Given the description of an element on the screen output the (x, y) to click on. 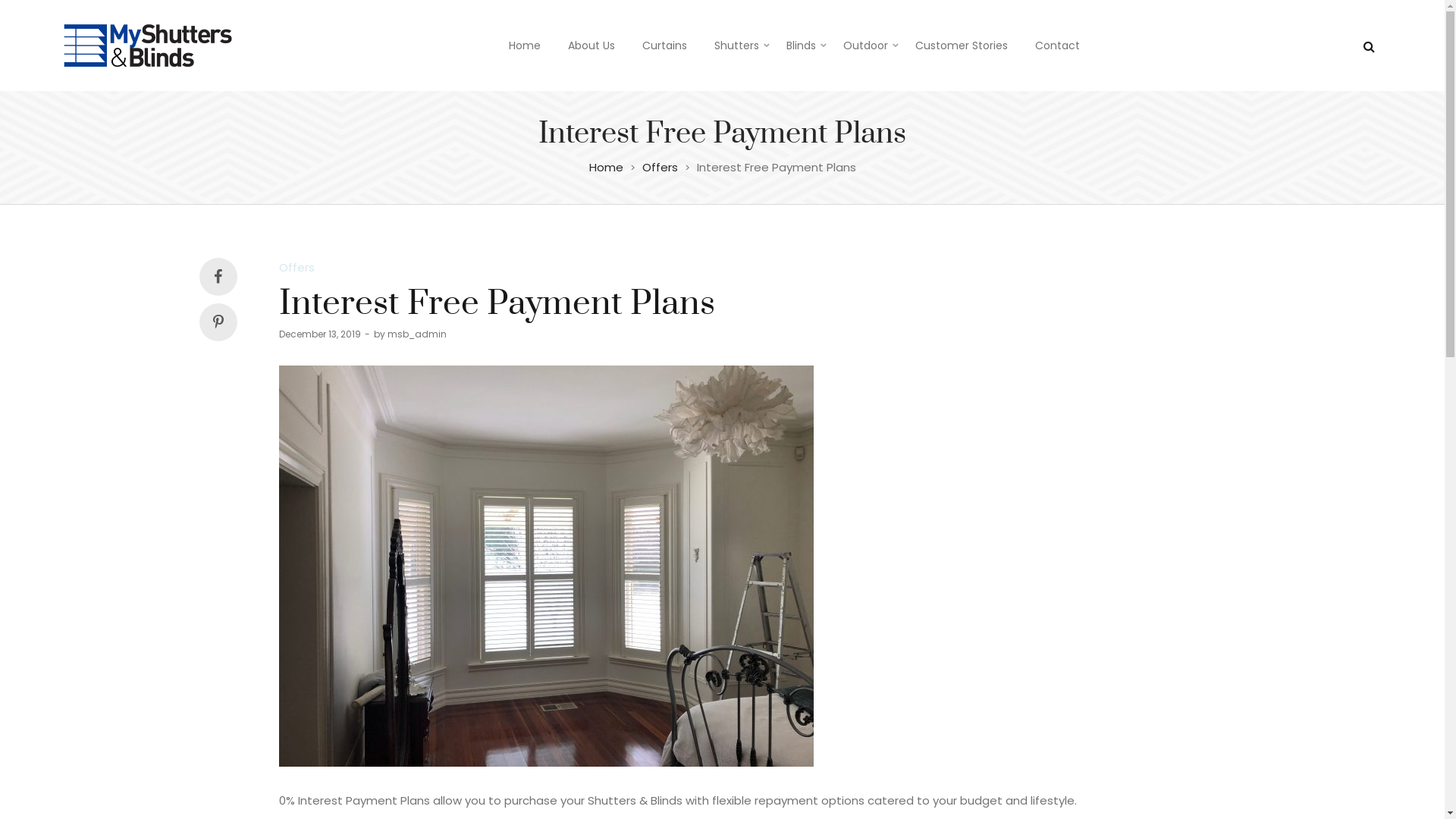
Home Element type: text (605, 167)
About Us Element type: text (591, 45)
Blinds Element type: text (800, 45)
Shutters Element type: text (736, 45)
Home Element type: text (524, 45)
Offers Element type: text (296, 267)
by msb_admin Element type: text (409, 333)
Curtains Element type: text (664, 45)
Customer Stories Element type: text (961, 45)
Posted on
December 13, 2019 Element type: text (319, 333)
Contact Element type: text (1057, 45)
Offers Element type: text (659, 167)
Outdoor Element type: text (865, 45)
